Given the description of an element on the screen output the (x, y) to click on. 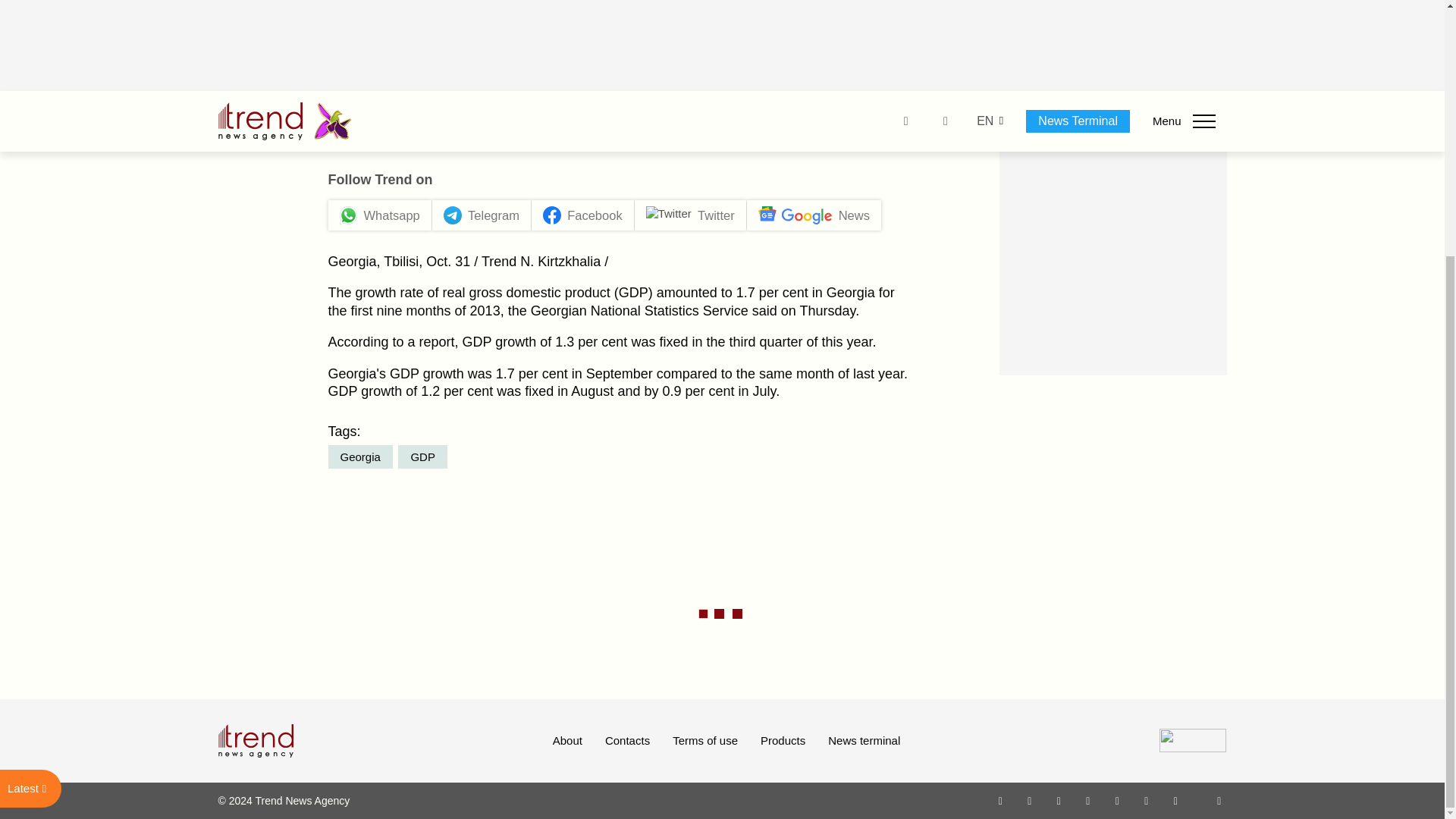
Android App (1176, 800)
Twitter (1059, 800)
Youtube (1088, 800)
LinkedIn (1146, 800)
Telegram (1117, 800)
Whatsapp (1000, 800)
RSS Feed (1219, 800)
Facebook (1029, 800)
